Given the description of an element on the screen output the (x, y) to click on. 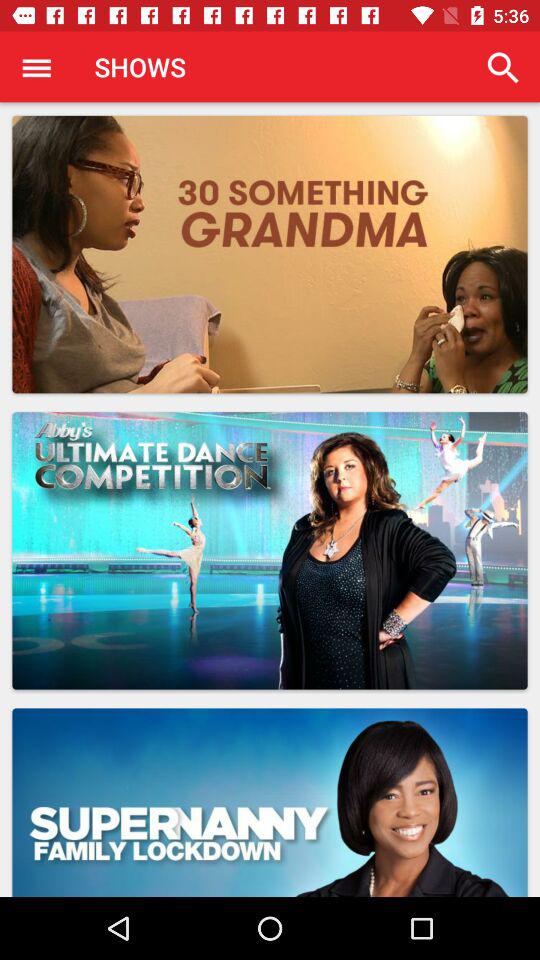
turn on the icon next to the shows icon (36, 67)
